Given the description of an element on the screen output the (x, y) to click on. 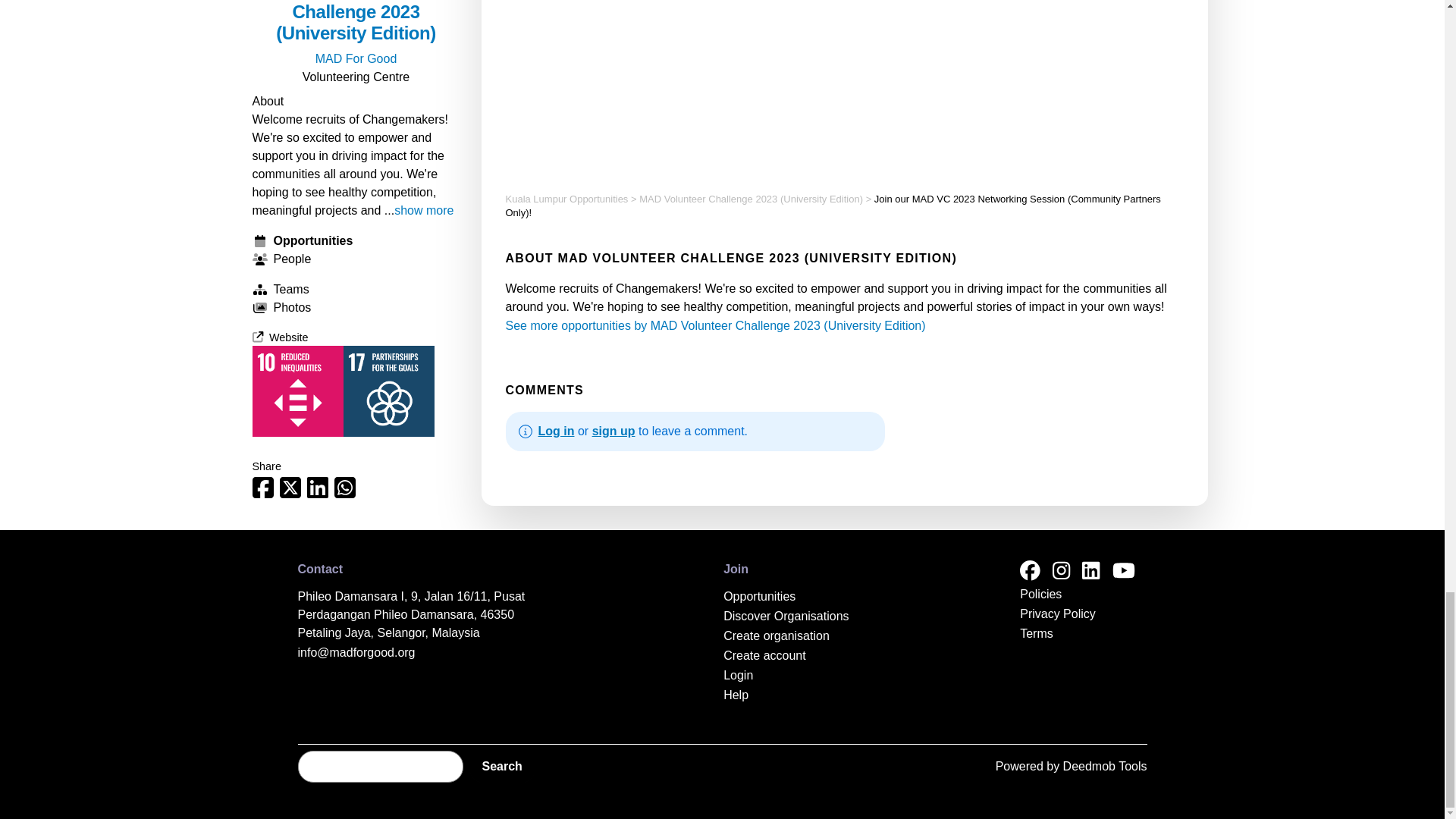
MAD For Good Youtube (1123, 571)
Map (843, 81)
